Given the description of an element on the screen output the (x, y) to click on. 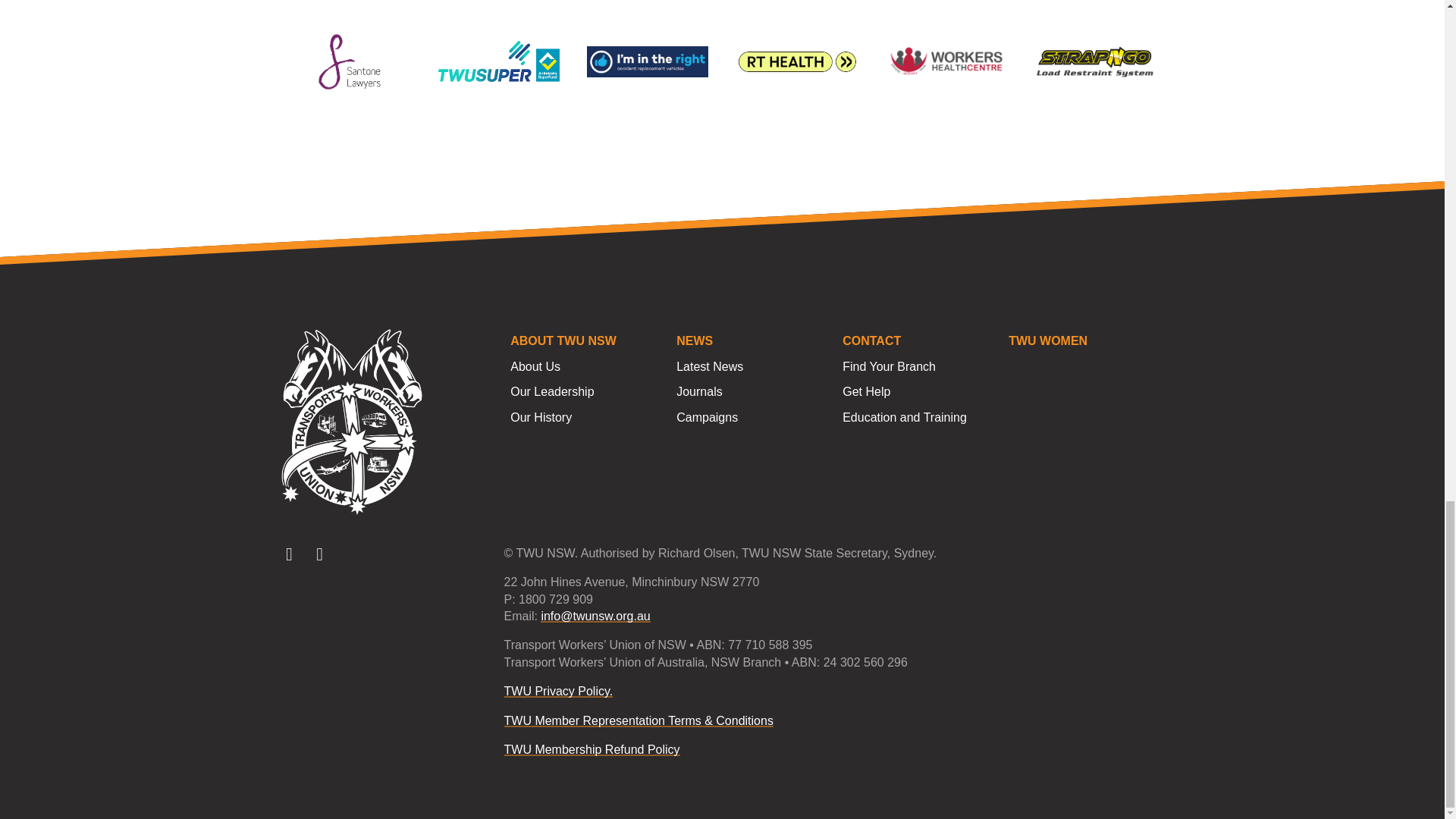
Latest News (752, 366)
Our Leadership (586, 391)
ABOUT TWU NSW (586, 340)
NEWS (752, 340)
About Us (586, 366)
Our History (586, 417)
